Given the description of an element on the screen output the (x, y) to click on. 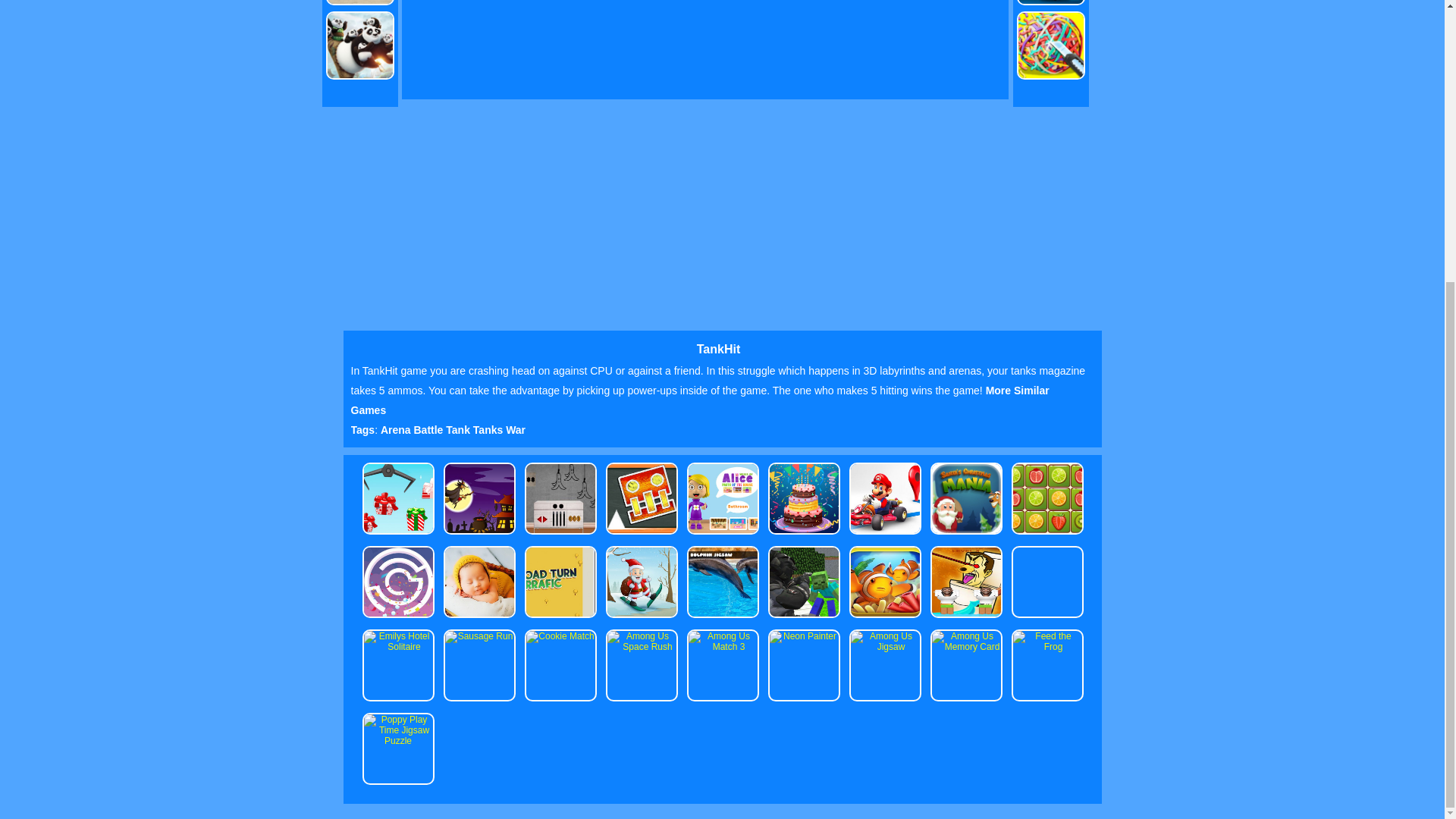
Advertisement (1201, 39)
Arena (396, 429)
More Similar Games (699, 400)
War (515, 429)
Tanks (489, 429)
Tank (459, 429)
Advertisement (253, 39)
Battle (429, 429)
